Given the description of an element on the screen output the (x, y) to click on. 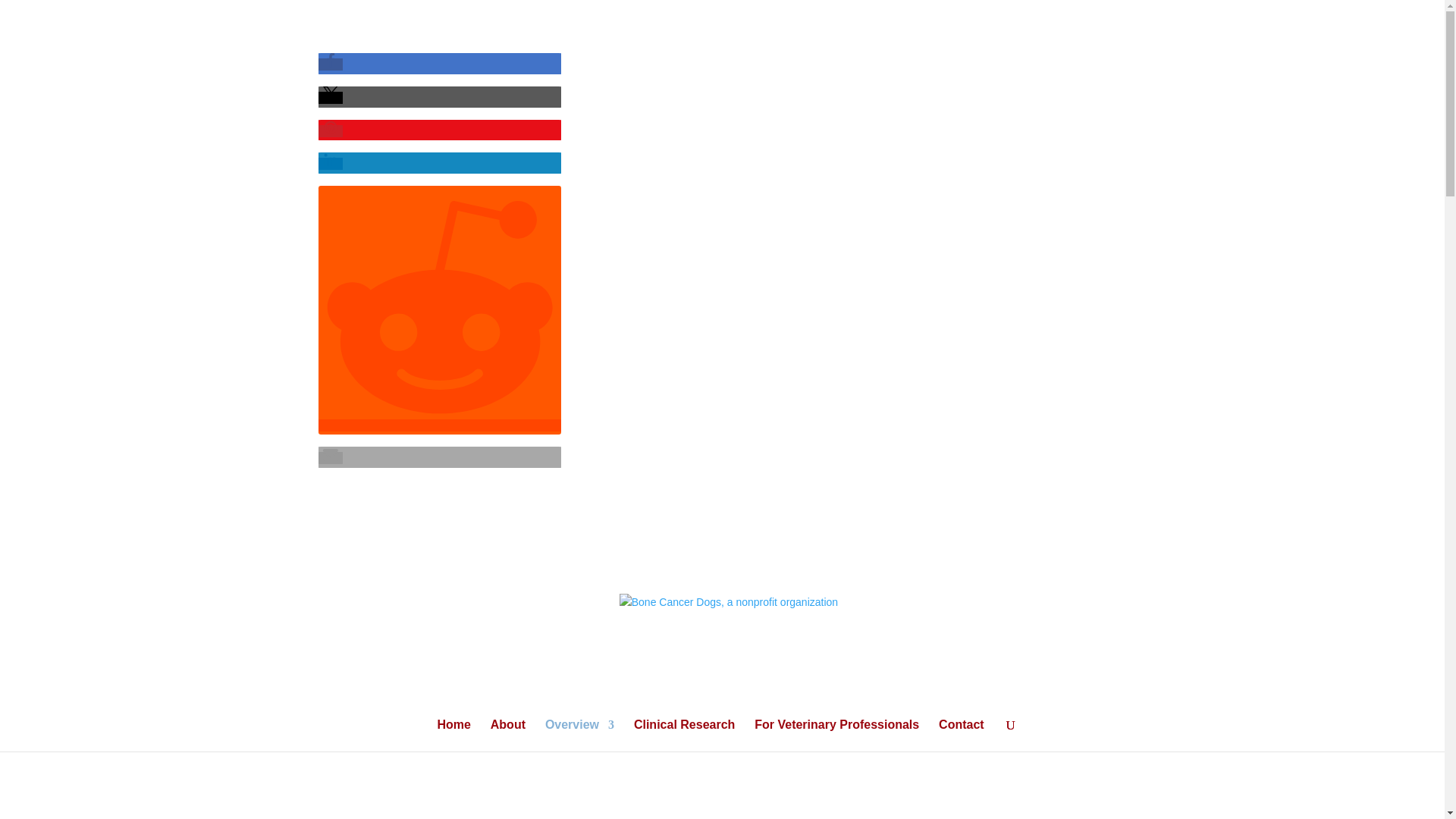
About (507, 735)
Contact (961, 735)
Clinical Research (684, 735)
Share on X (330, 97)
Home (453, 735)
Share on Facebook (330, 64)
For Veterinary Professionals (836, 735)
Send by email (330, 458)
Share on LinkedIn (330, 163)
Donate Now (1016, 59)
Overview (579, 735)
Donate Now (727, 538)
Share on Reddit (439, 425)
Pin it on Pinterest (330, 131)
